Given the description of an element on the screen output the (x, y) to click on. 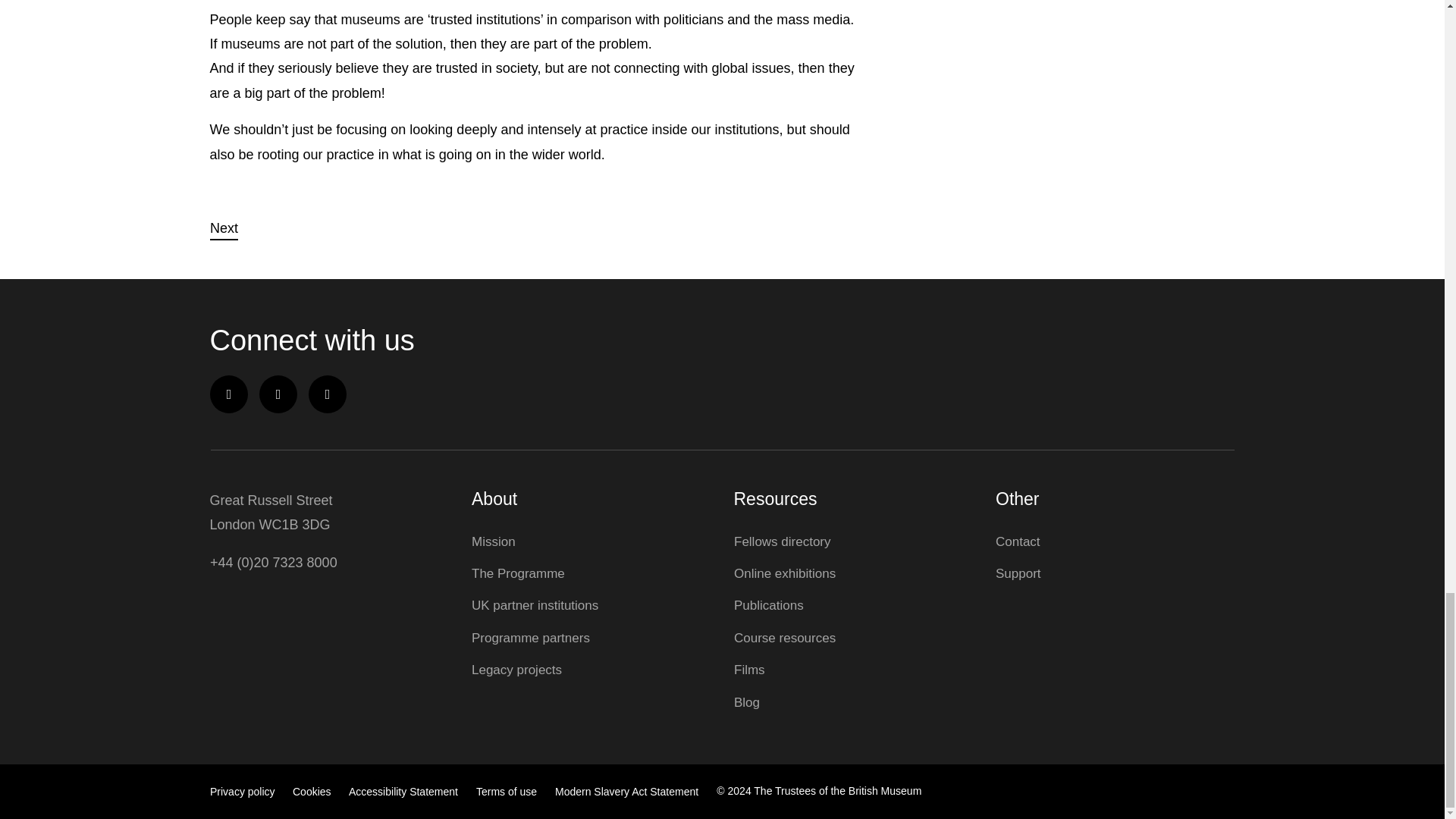
twitter (278, 394)
instagram (327, 394)
facebook (228, 394)
